Given the description of an element on the screen output the (x, y) to click on. 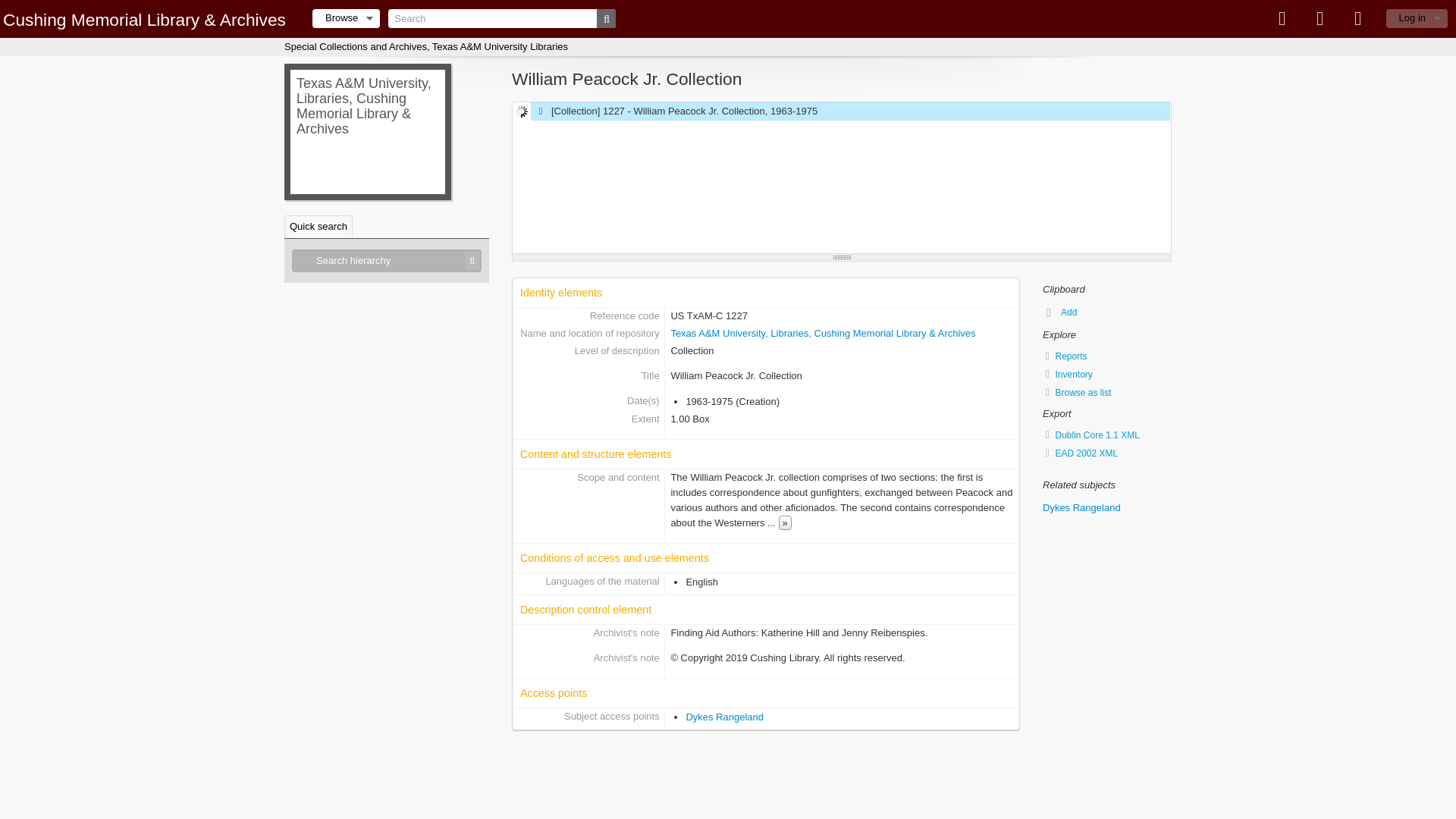
Quick search (317, 226)
Language (1320, 18)
Clipboard (1282, 18)
Dykes Rangeland (723, 716)
Log in (1416, 18)
Browse (346, 18)
Add (1061, 312)
Reports (1107, 356)
Home (143, 19)
Inventory (1107, 374)
Quick links (1358, 18)
